Given the description of an element on the screen output the (x, y) to click on. 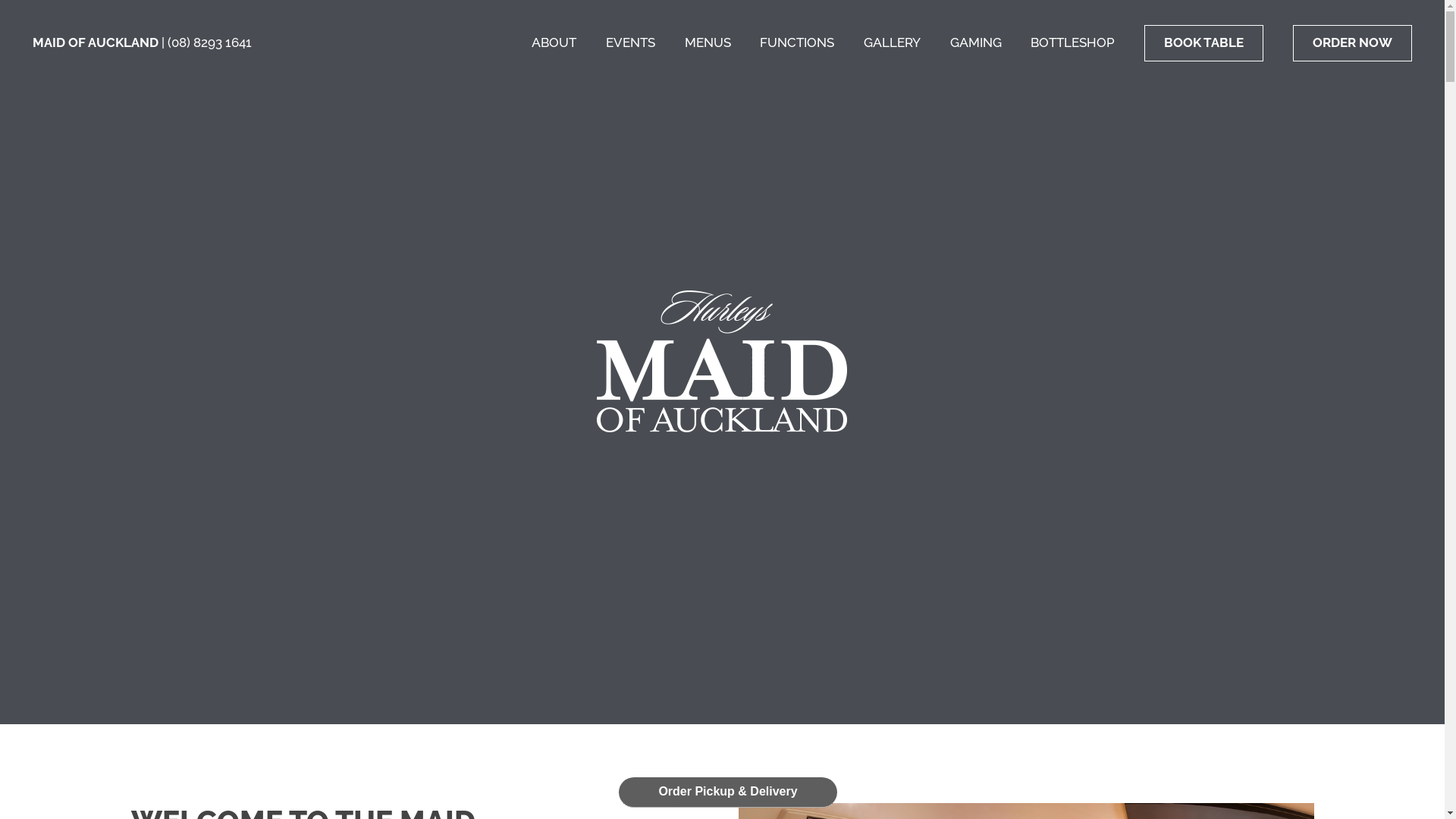
MENUS Element type: text (707, 42)
BOOK TABLE Element type: text (1203, 43)
GAMING Element type: text (975, 42)
Order Pickup & Delivery Element type: text (727, 791)
GALLERY Element type: text (891, 42)
ORDER NOW Element type: text (1352, 43)
ABOUT Element type: text (553, 42)
MAID OF AUCKLAND | (08) 8293 1641 Element type: text (141, 42)
BOTTLESHOP Element type: text (1072, 42)
EVENTS Element type: text (630, 42)
FUNCTIONS Element type: text (796, 42)
